Given the description of an element on the screen output the (x, y) to click on. 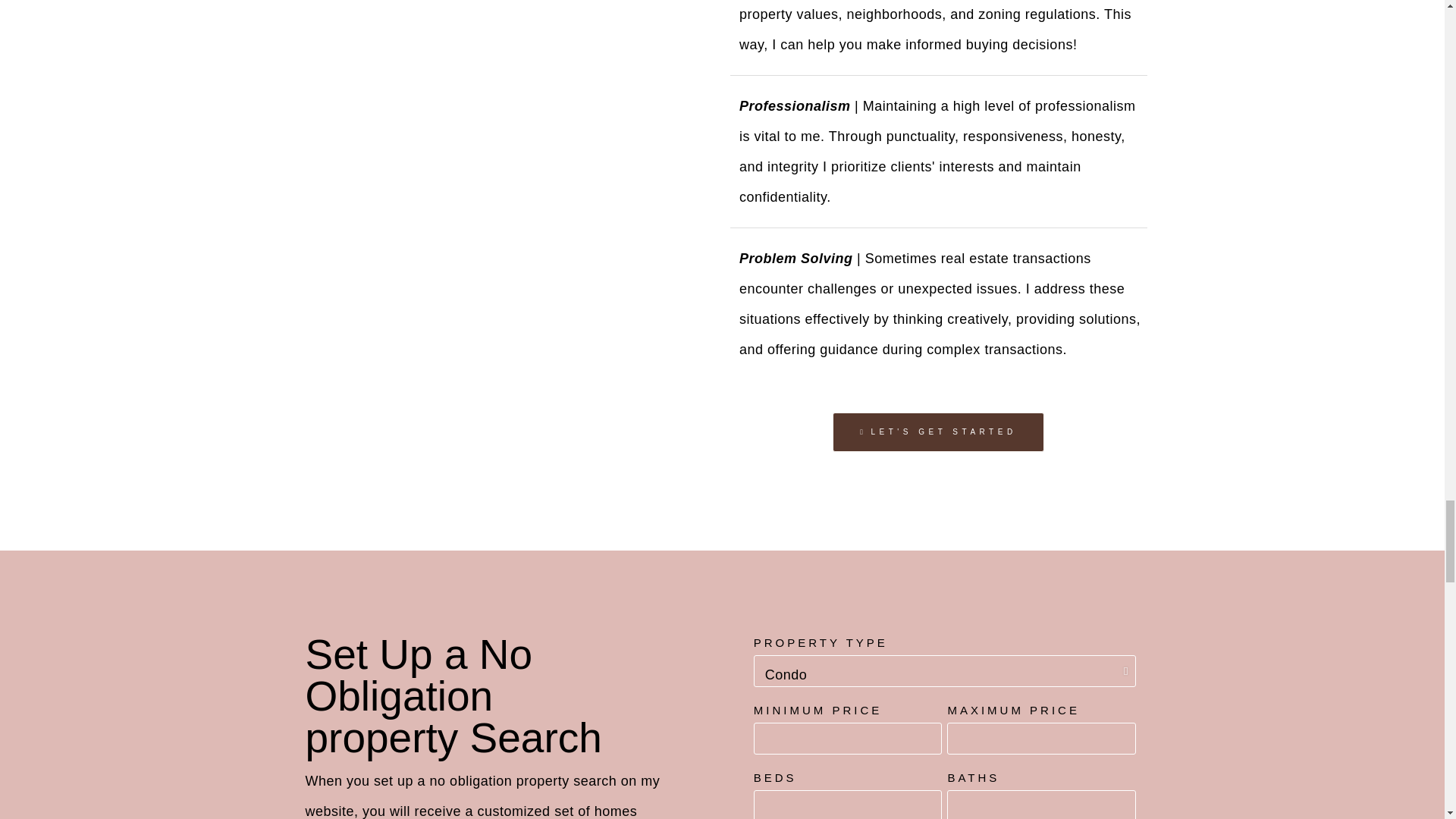
LET'S GET STARTED (937, 432)
